Given the description of an element on the screen output the (x, y) to click on. 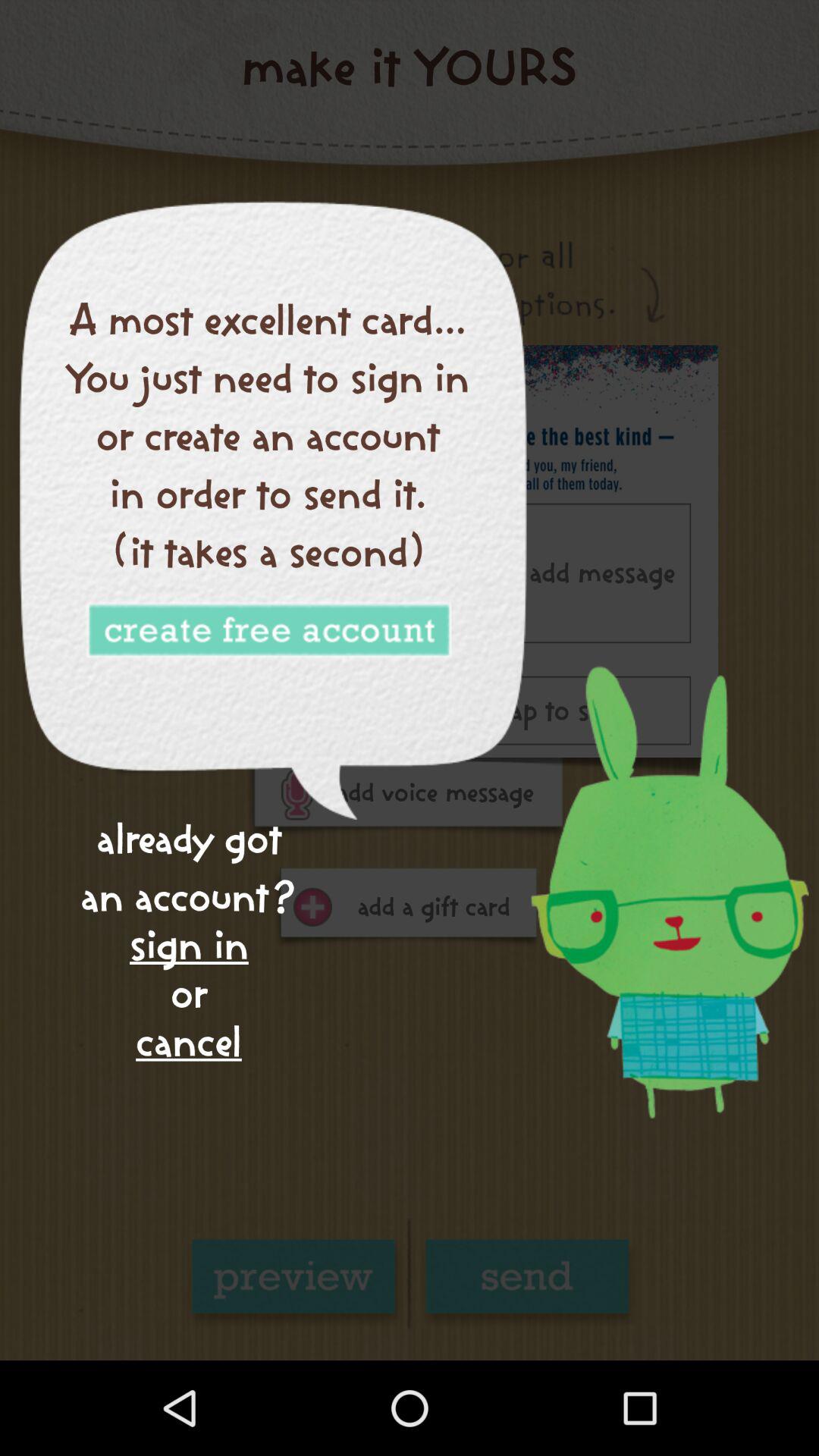
open app below the sign in (188, 1041)
